Given the description of an element on the screen output the (x, y) to click on. 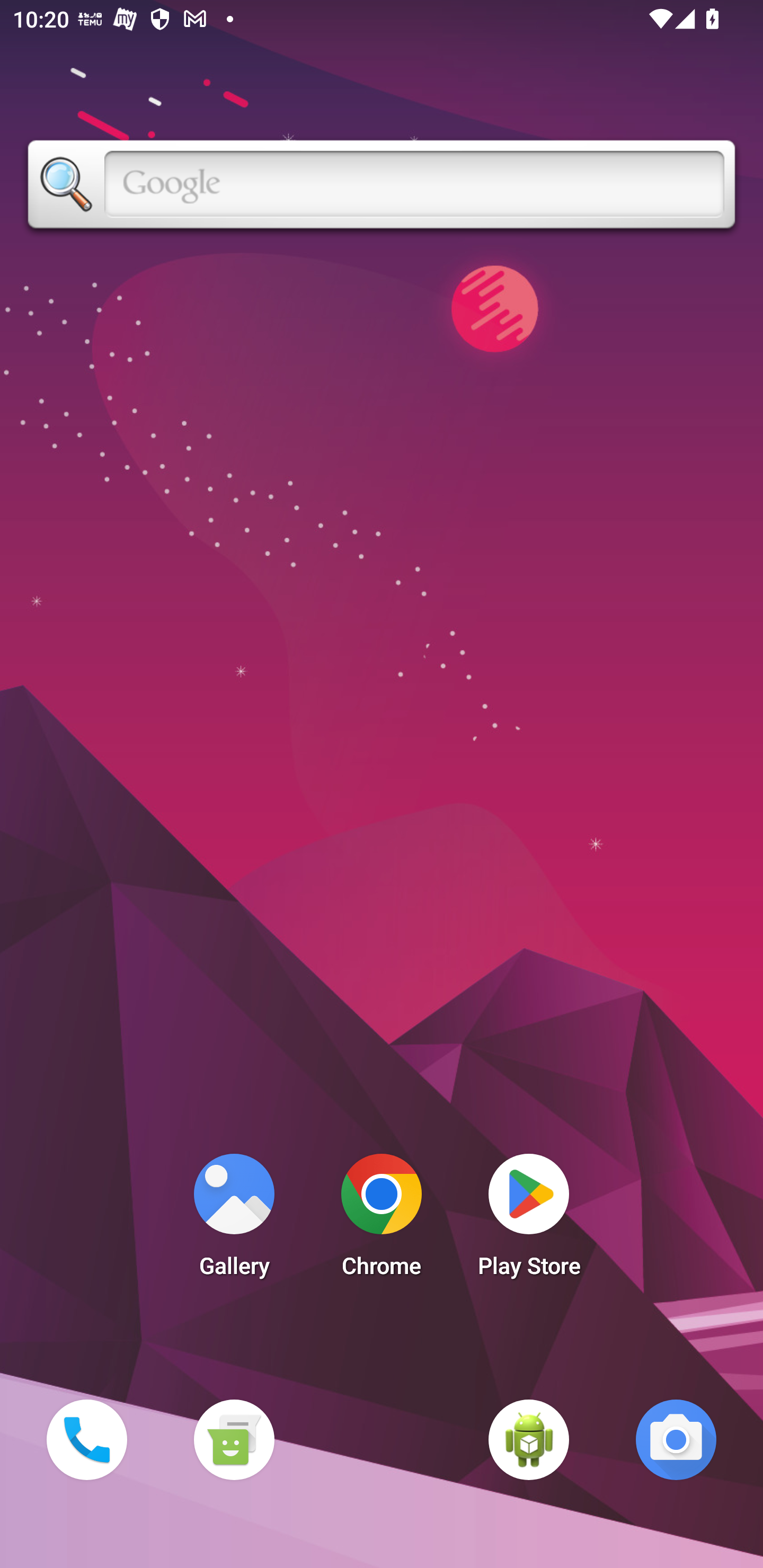
Gallery (233, 1220)
Chrome (381, 1220)
Play Store (528, 1220)
Phone (86, 1439)
Messaging (233, 1439)
WebView Browser Tester (528, 1439)
Camera (676, 1439)
